Given the description of an element on the screen output the (x, y) to click on. 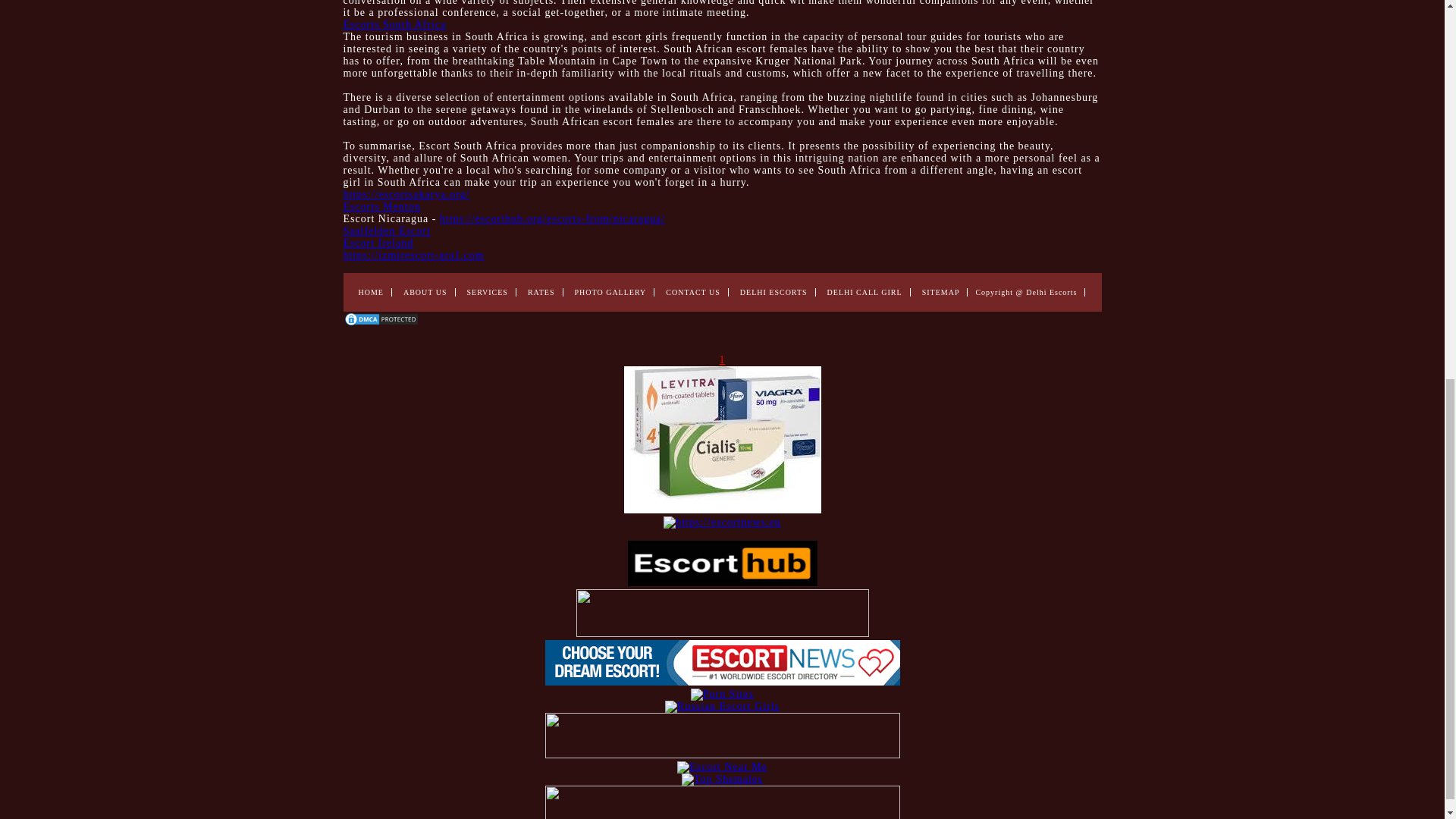
SERVICES (487, 292)
SITEMAP (940, 292)
Escort Near Me (722, 767)
Saalfelden Escort (385, 230)
CONTACT US (692, 292)
DMCA.com Protection Status (380, 323)
DELHI ESCORTS (773, 292)
Porn Sites List (722, 694)
Russian escort (721, 706)
HOME (370, 292)
Topescort (721, 754)
Escorts near me (721, 681)
Escorts Menton (381, 206)
Top Shemales Escort (721, 778)
Escorts South Africa (393, 24)
